Given the description of an element on the screen output the (x, y) to click on. 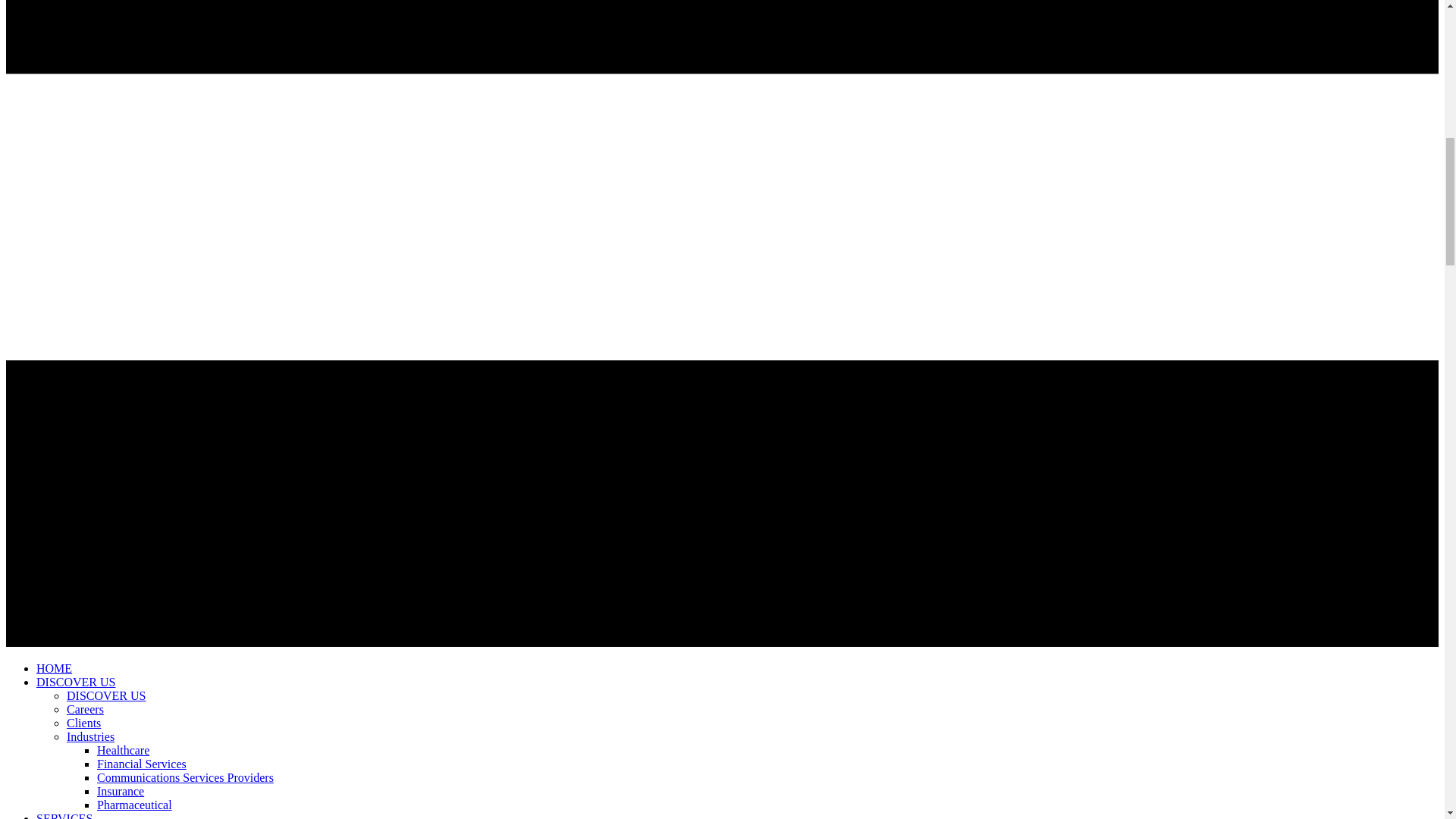
Financial Services (141, 764)
Industries (90, 736)
DISCOVER US (75, 682)
HOME (53, 668)
Insurance (120, 791)
Healthcare (123, 750)
Clients (83, 723)
DISCOVER US (105, 695)
Careers (84, 709)
Communications Services Providers (185, 777)
